Given the description of an element on the screen output the (x, y) to click on. 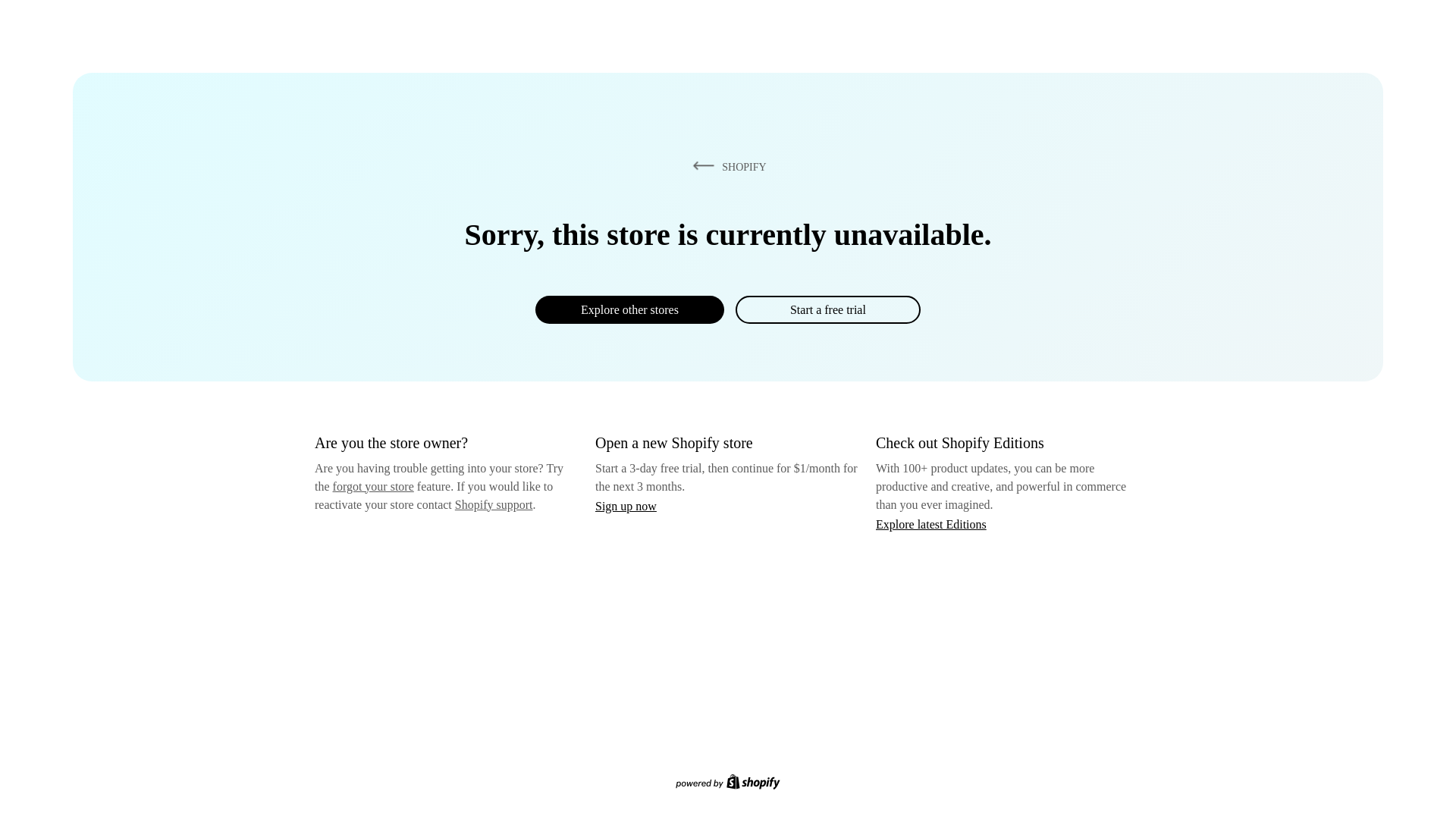
Explore latest Editions (931, 523)
forgot your store (373, 486)
Start a free trial (827, 309)
SHOPIFY (726, 166)
Explore other stores (629, 309)
Sign up now (625, 505)
Shopify support (493, 504)
